Given the description of an element on the screen output the (x, y) to click on. 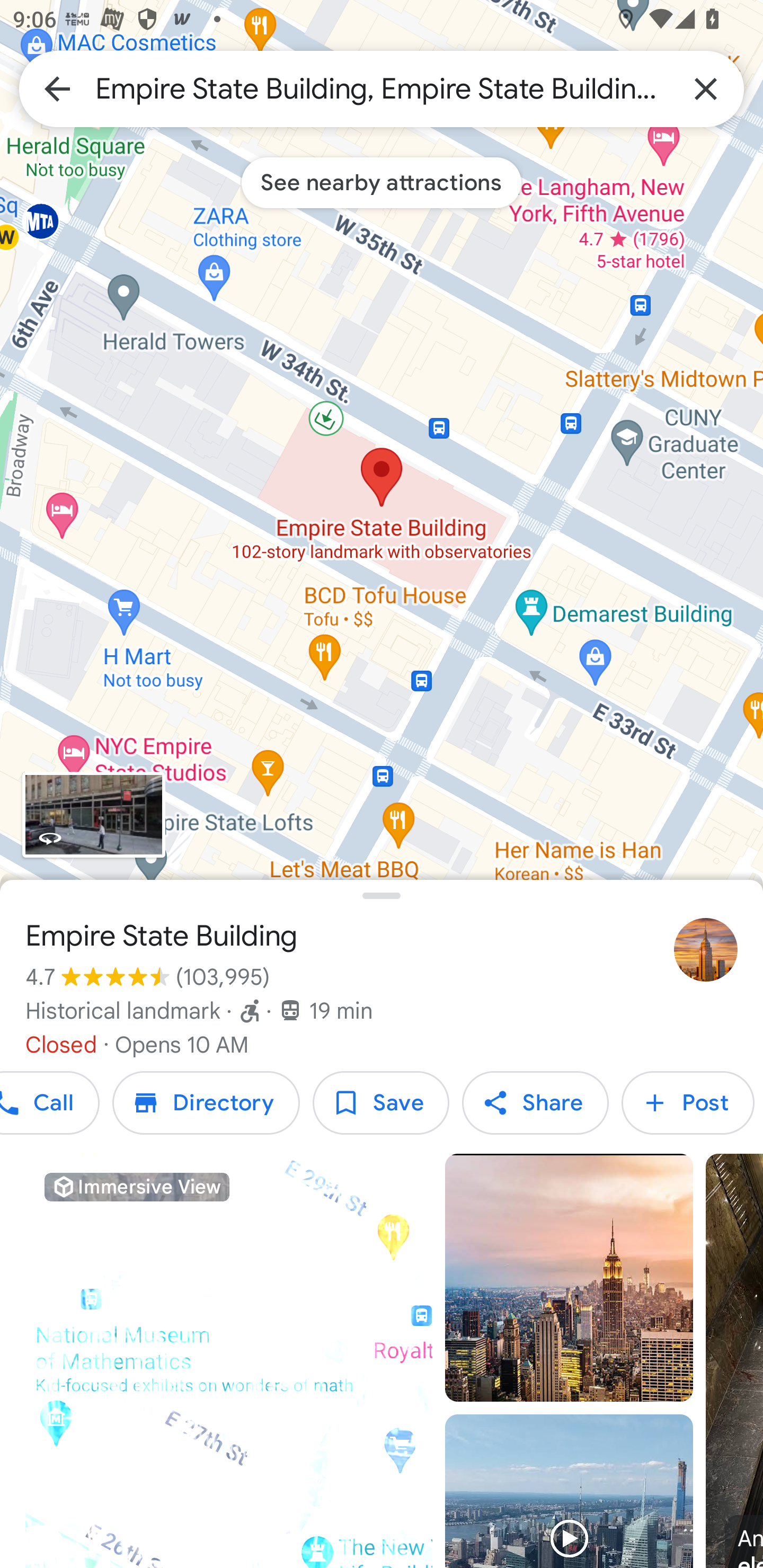
Back (57, 88)
Clear (705, 88)
See nearby attractions (381, 182)
View Street view imagery for Empire State Building (93, 814)
Directory Directory Directory (205, 1102)
Post Post Post (687, 1102)
Video Immersive View (228, 1361)
Photo (568, 1277)
Video (568, 1491)
